Given the description of an element on the screen output the (x, y) to click on. 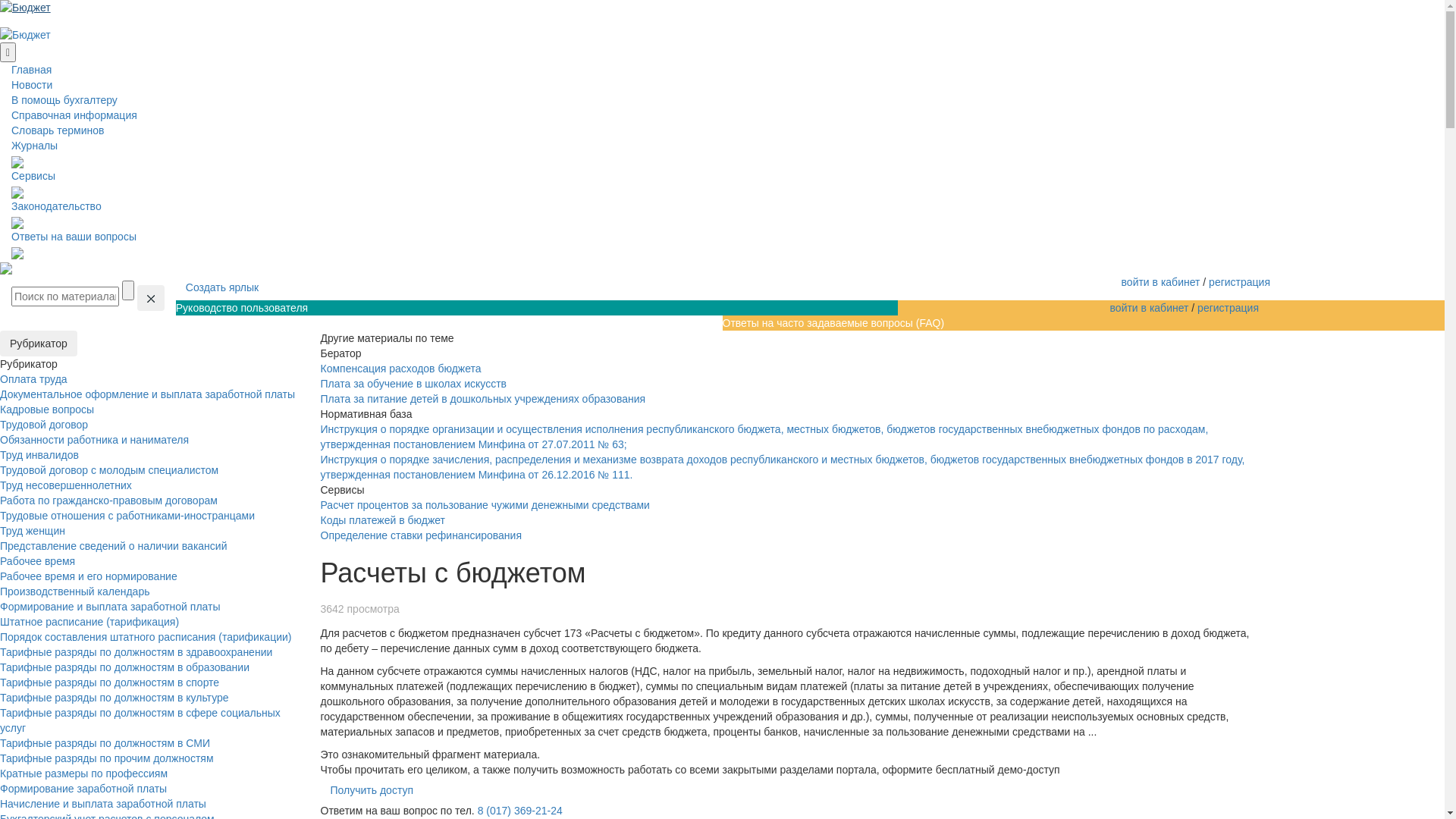
8 (017) 369-21-24 Element type: text (519, 810)
